Given the description of an element on the screen output the (x, y) to click on. 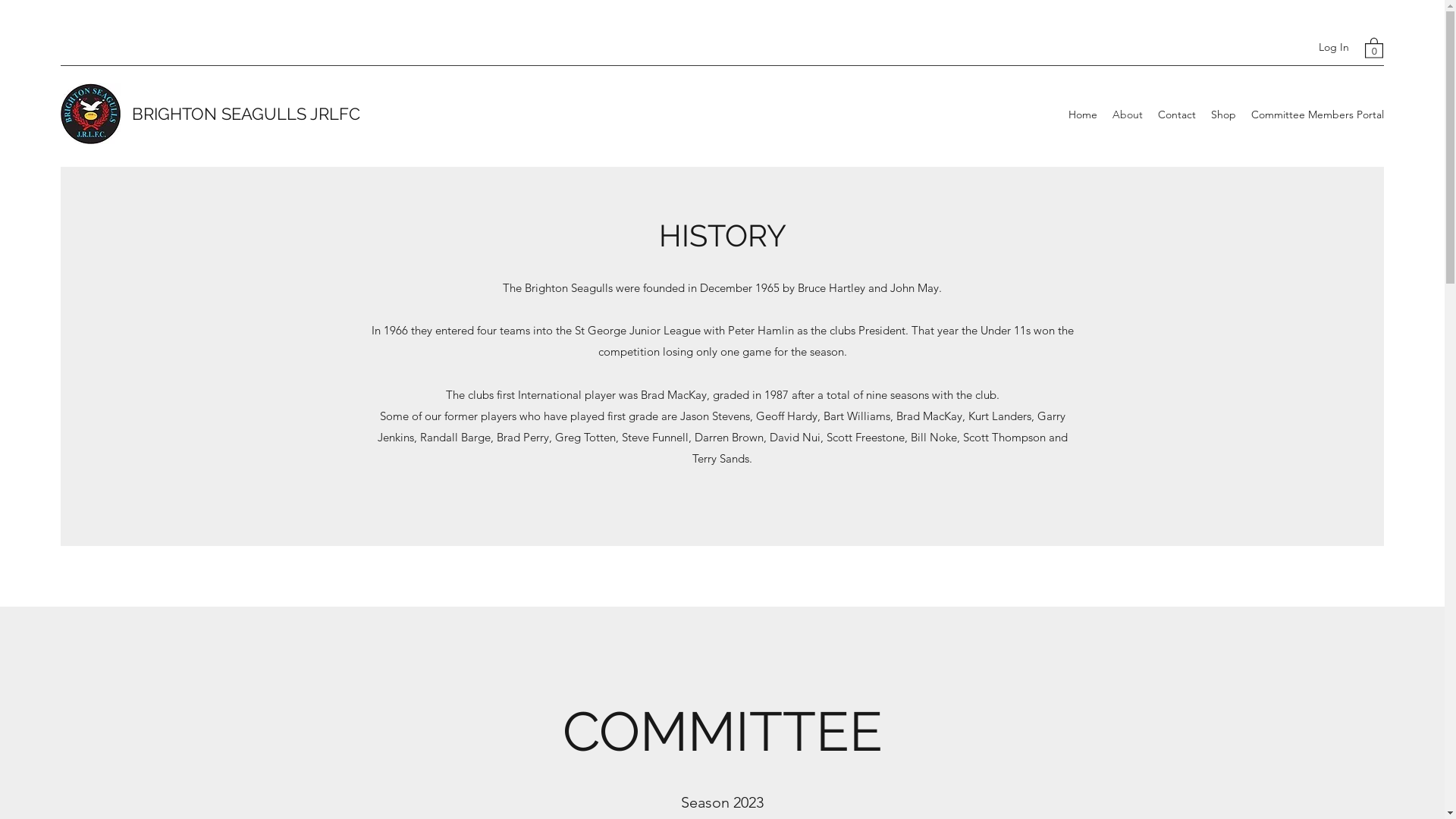
Contact Element type: text (1176, 114)
Log In Element type: text (1333, 47)
Committee Members Portal Element type: text (1317, 114)
0 Element type: text (1374, 47)
Home Element type: text (1082, 114)
About Element type: text (1127, 114)
BRIGHTON SEAGULLS JRLFC Element type: text (245, 113)
Shop Element type: text (1223, 114)
